Given the description of an element on the screen output the (x, y) to click on. 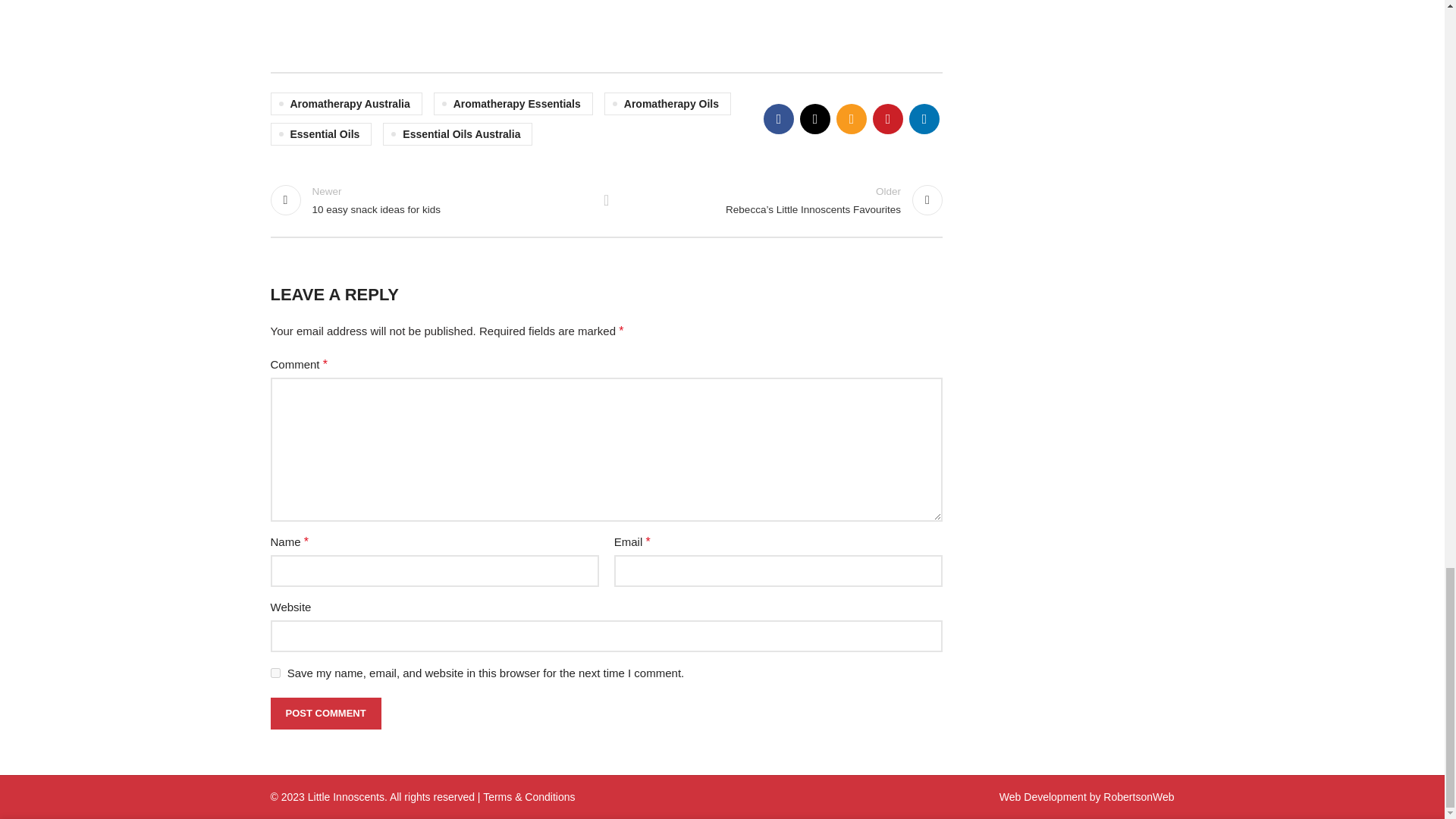
Post Comment (324, 713)
Essential Oils (320, 133)
RobertsonWeb (1138, 797)
Post Comment (324, 713)
Aromatherapy Oils (667, 103)
yes (274, 673)
Aromatherapy Essentials (512, 103)
Aromatherapy Australia (345, 103)
Back to list (606, 200)
Essential Oils Australia (457, 133)
